Given the description of an element on the screen output the (x, y) to click on. 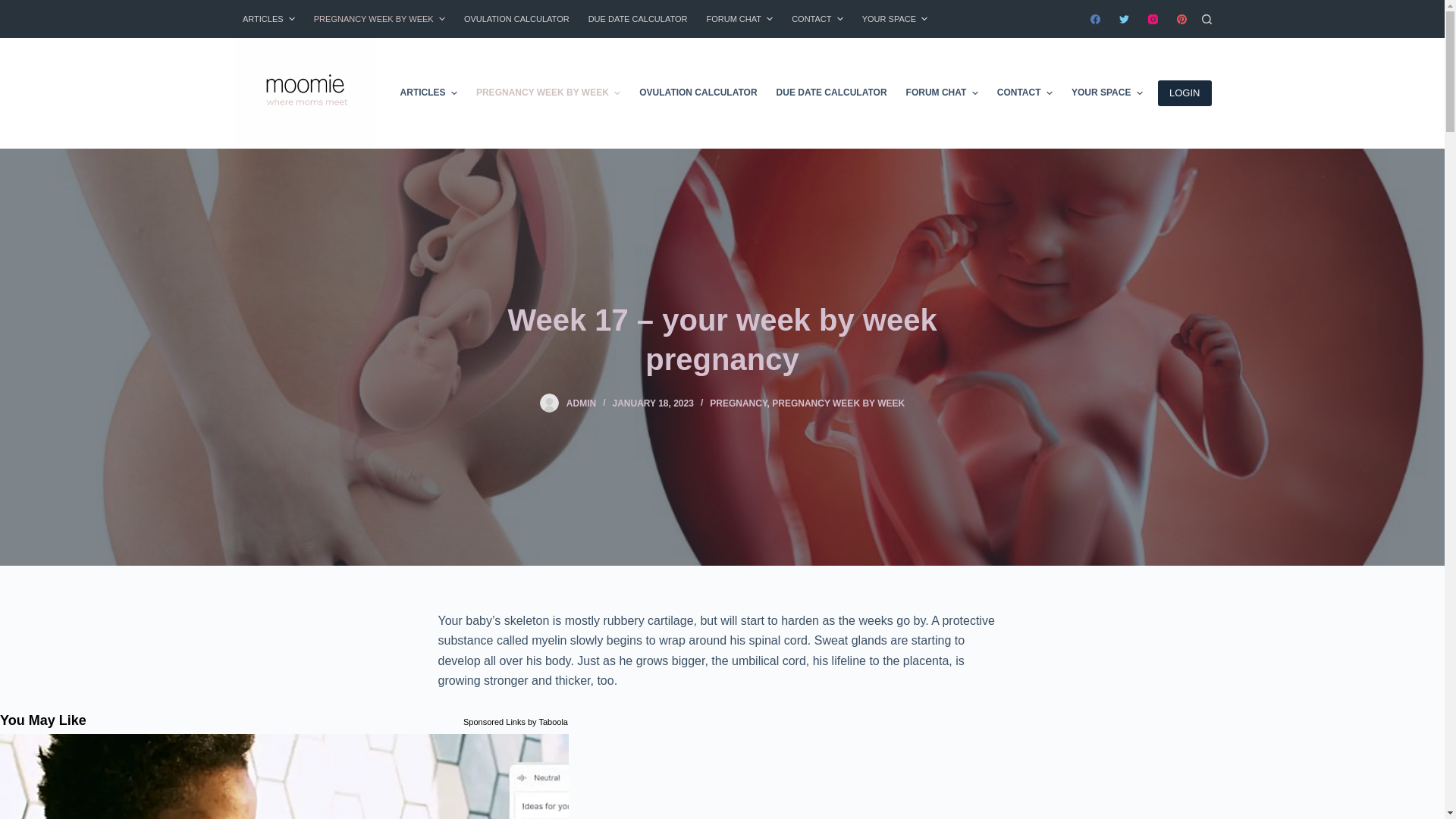
Posts by Admin (580, 403)
Skip to content (15, 7)
